Given the description of an element on the screen output the (x, y) to click on. 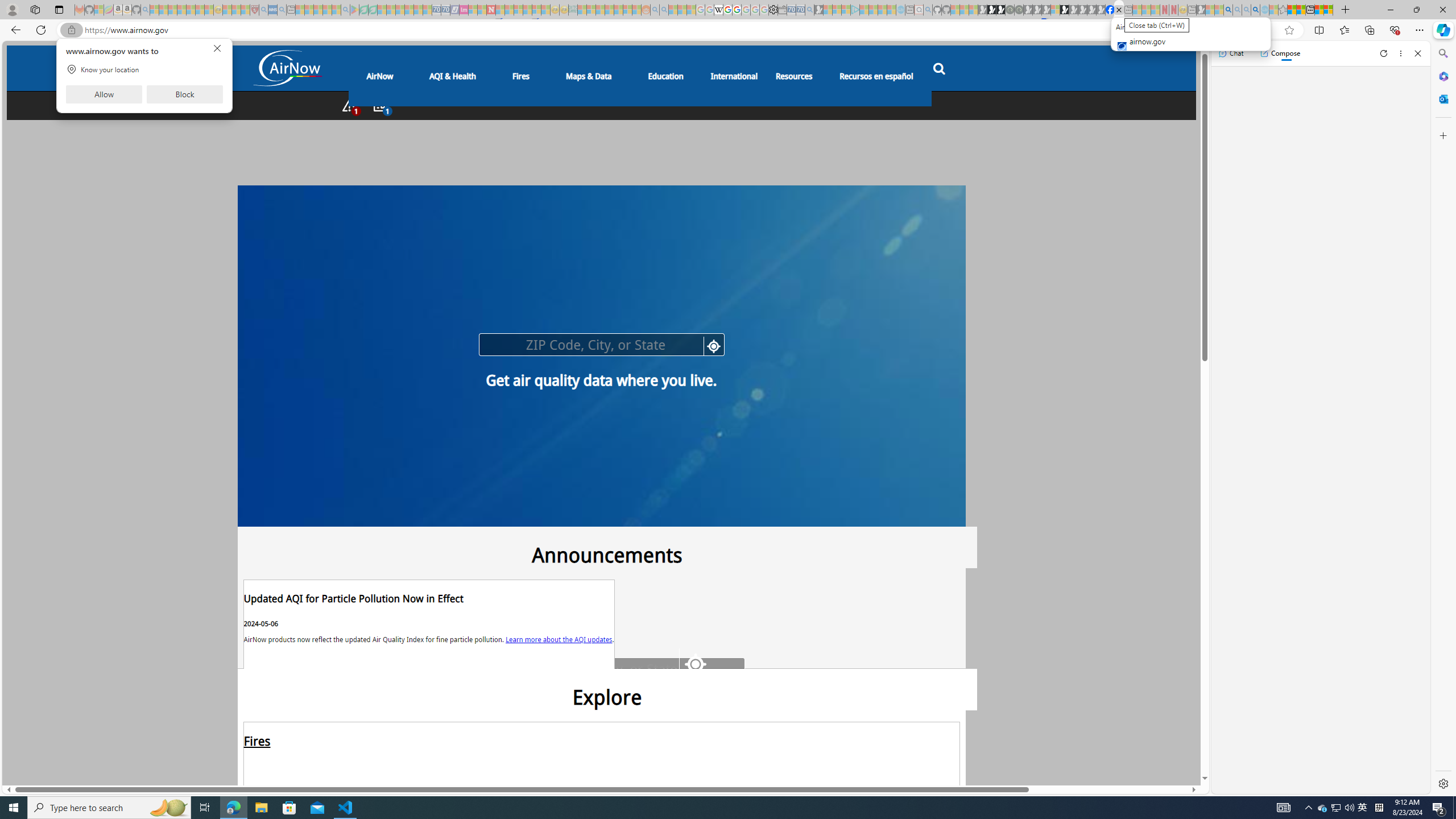
Aberdeen, Hong Kong SAR weather forecast | Microsoft Weather (1300, 9)
github - Search - Sleeping (927, 9)
